Given the description of an element on the screen output the (x, y) to click on. 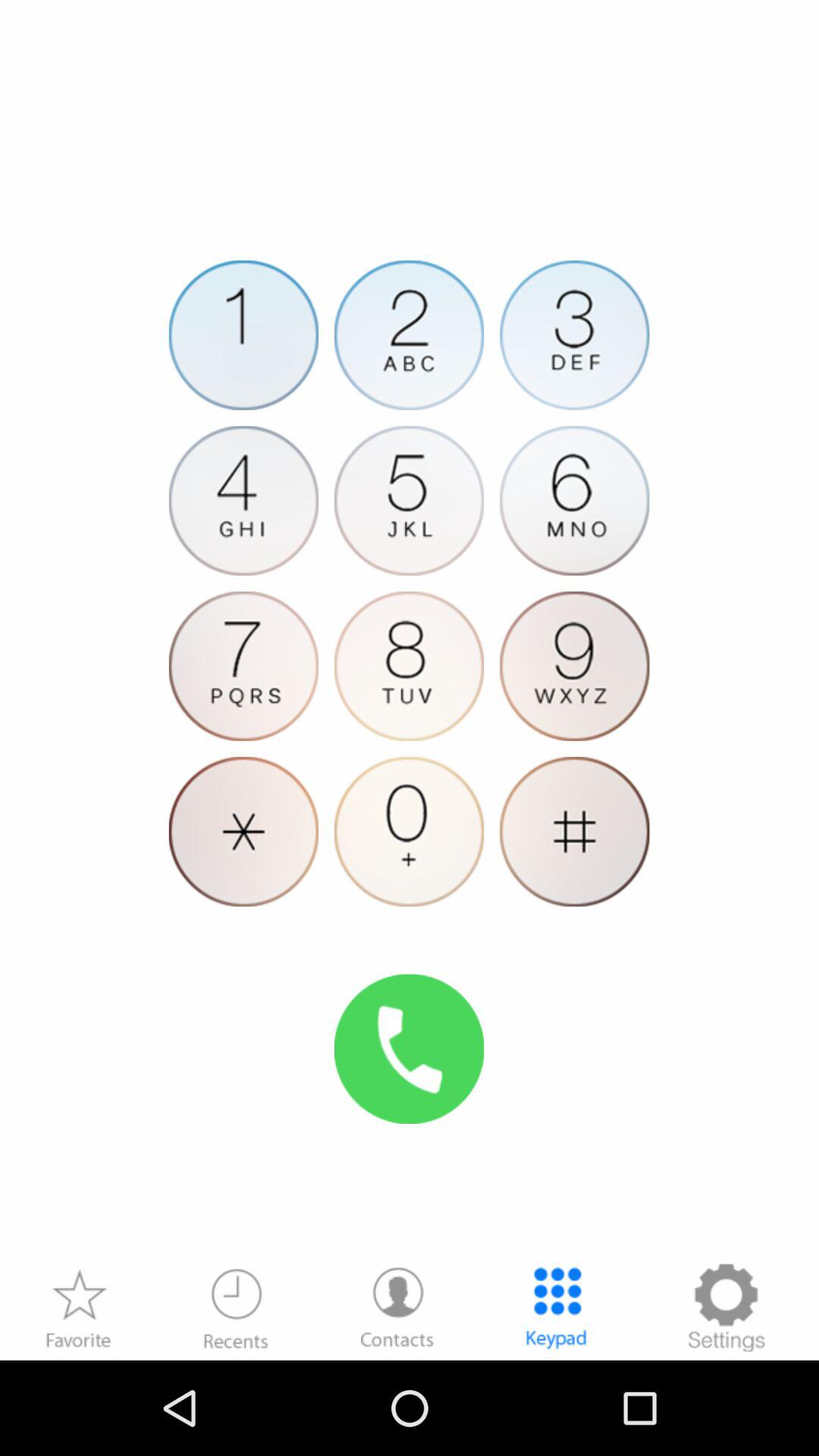
click on the third button on the dial pad (574, 335)
